Given the description of an element on the screen output the (x, y) to click on. 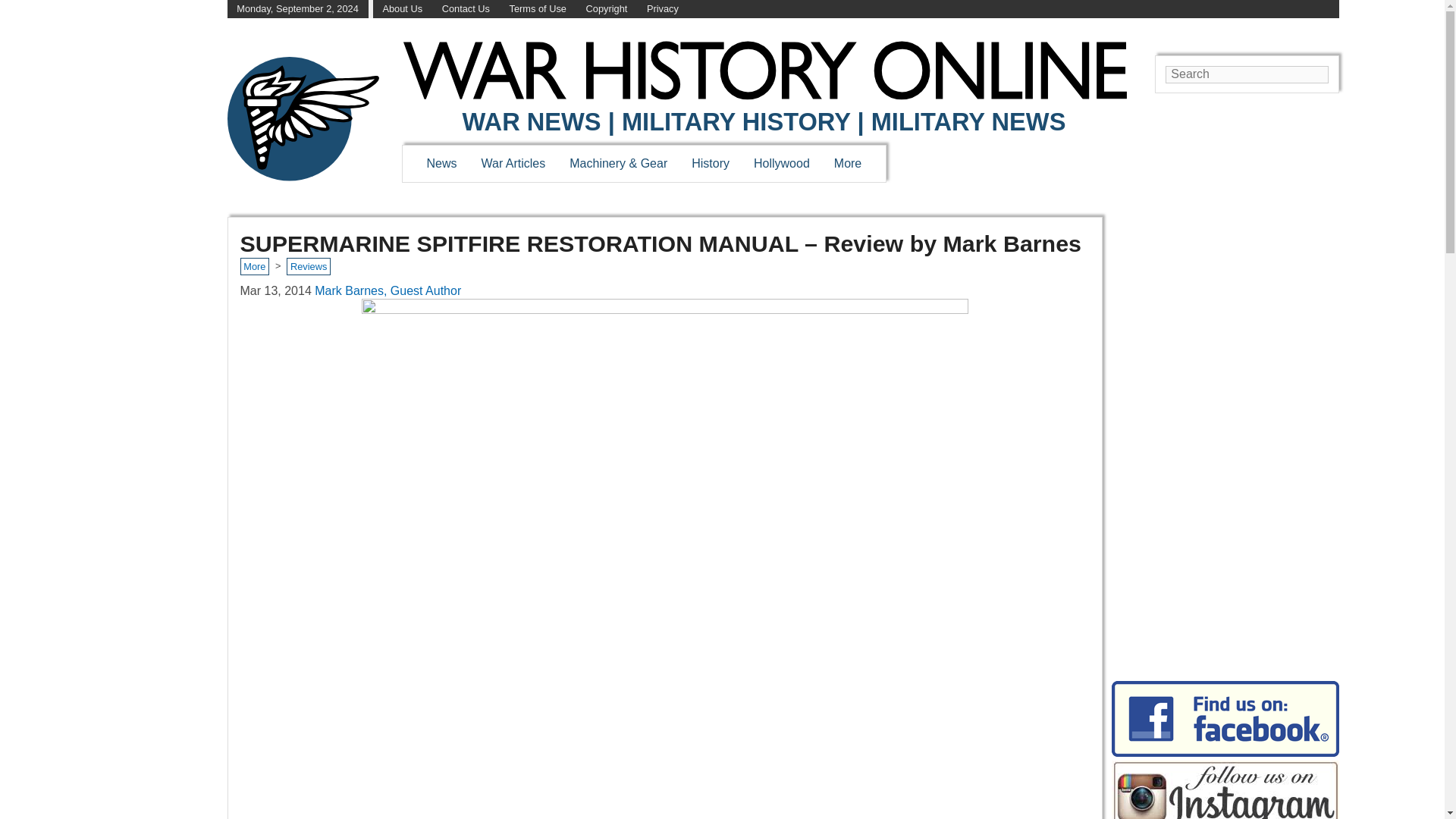
Copyright (606, 8)
Privacy (662, 8)
War Articles (513, 163)
History (710, 163)
News (441, 163)
Contact Us (465, 8)
More (847, 163)
About Us (401, 8)
Terms of Use (537, 8)
Hollywood (781, 163)
